Given the description of an element on the screen output the (x, y) to click on. 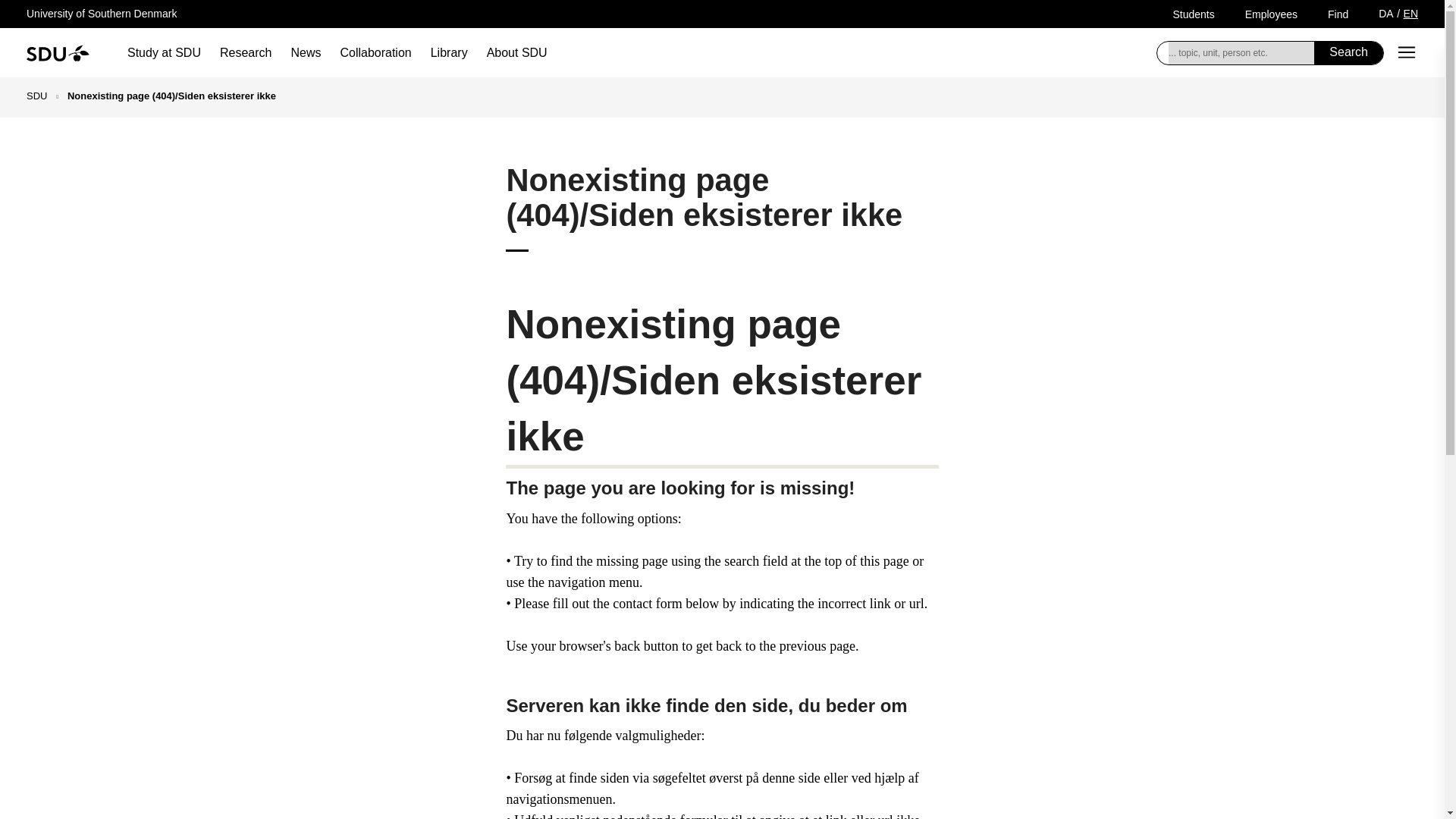
University of Southern Denmark (101, 13)
DA (1385, 13)
Students (1193, 13)
Employees (1270, 13)
EN (1410, 13)
University of Southern Denmark, SDU (57, 52)
Find (1337, 13)
